Given the description of an element on the screen output the (x, y) to click on. 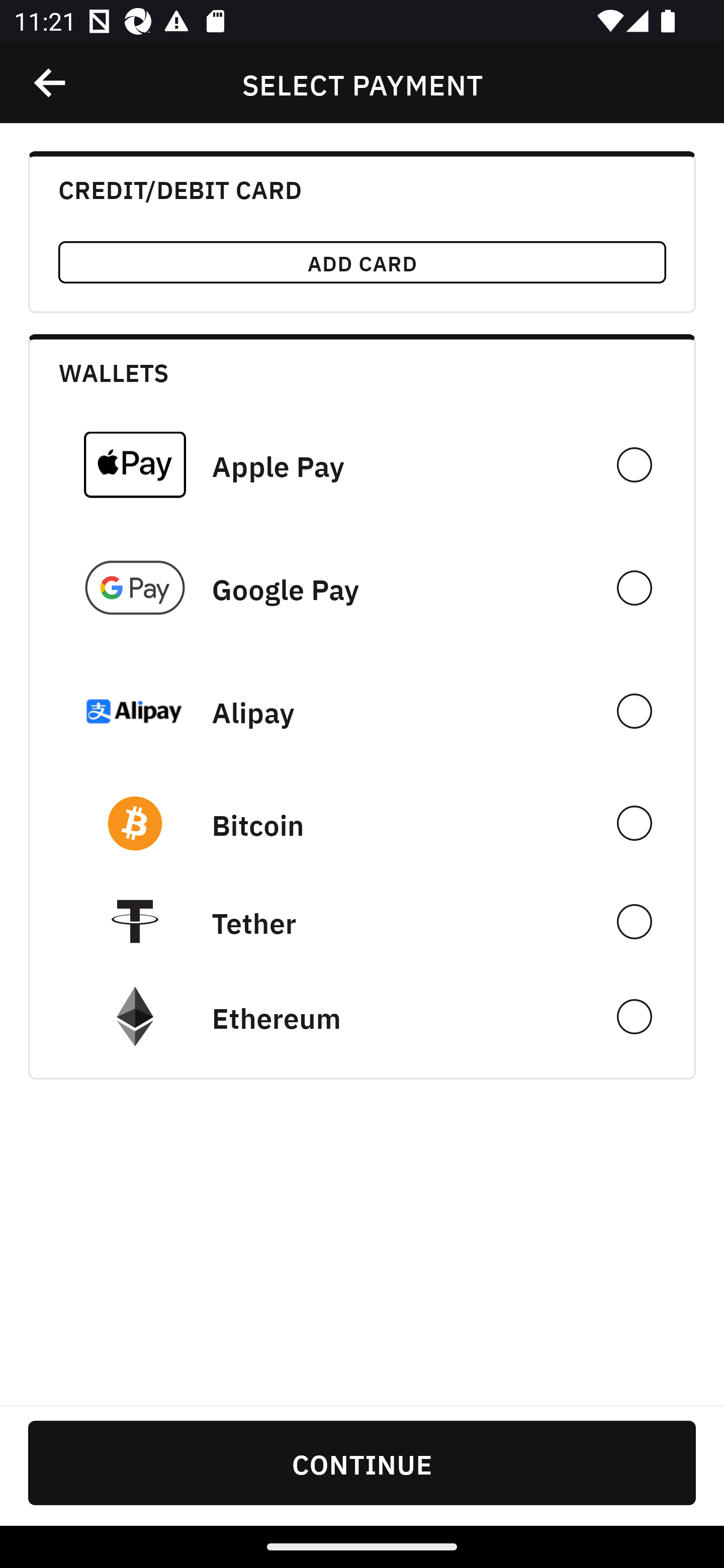
 (50, 83)
ADD CARD (362, 262)
Apple Pay (362, 464)
Google Pay (362, 587)
Alipay (362, 711)
󰠓 Bitcoin (362, 823)
Tether (362, 921)
Ethereum (362, 1016)
CONTINUE (361, 1462)
